Given the description of an element on the screen output the (x, y) to click on. 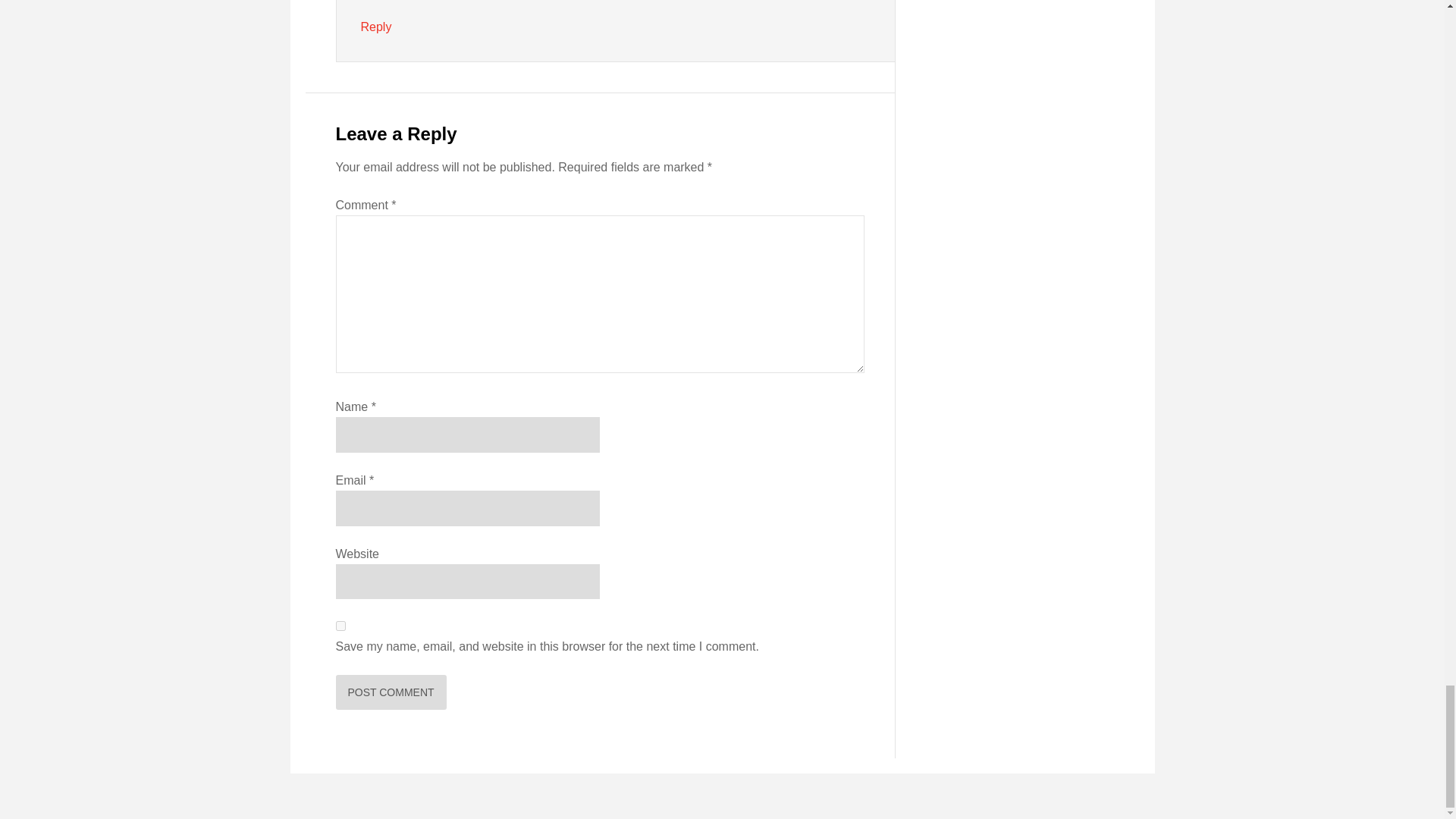
Post Comment (389, 692)
yes (339, 625)
